Given the description of an element on the screen output the (x, y) to click on. 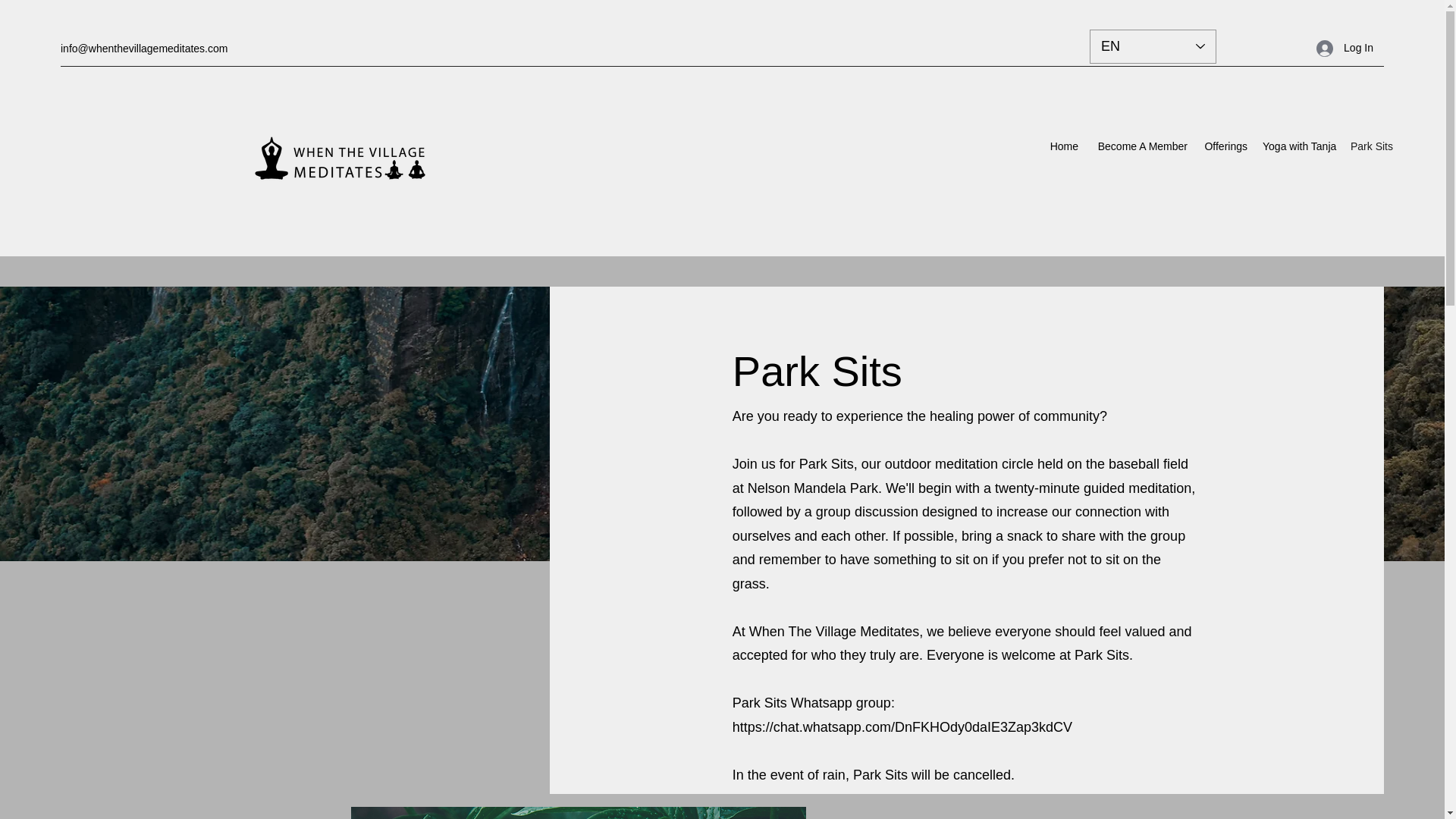
Home (1064, 146)
Become A Member (1140, 146)
Log In (1345, 48)
Offerings (1225, 146)
Park Sits (1369, 146)
Yoga with Tanja (1298, 146)
